Given the description of an element on the screen output the (x, y) to click on. 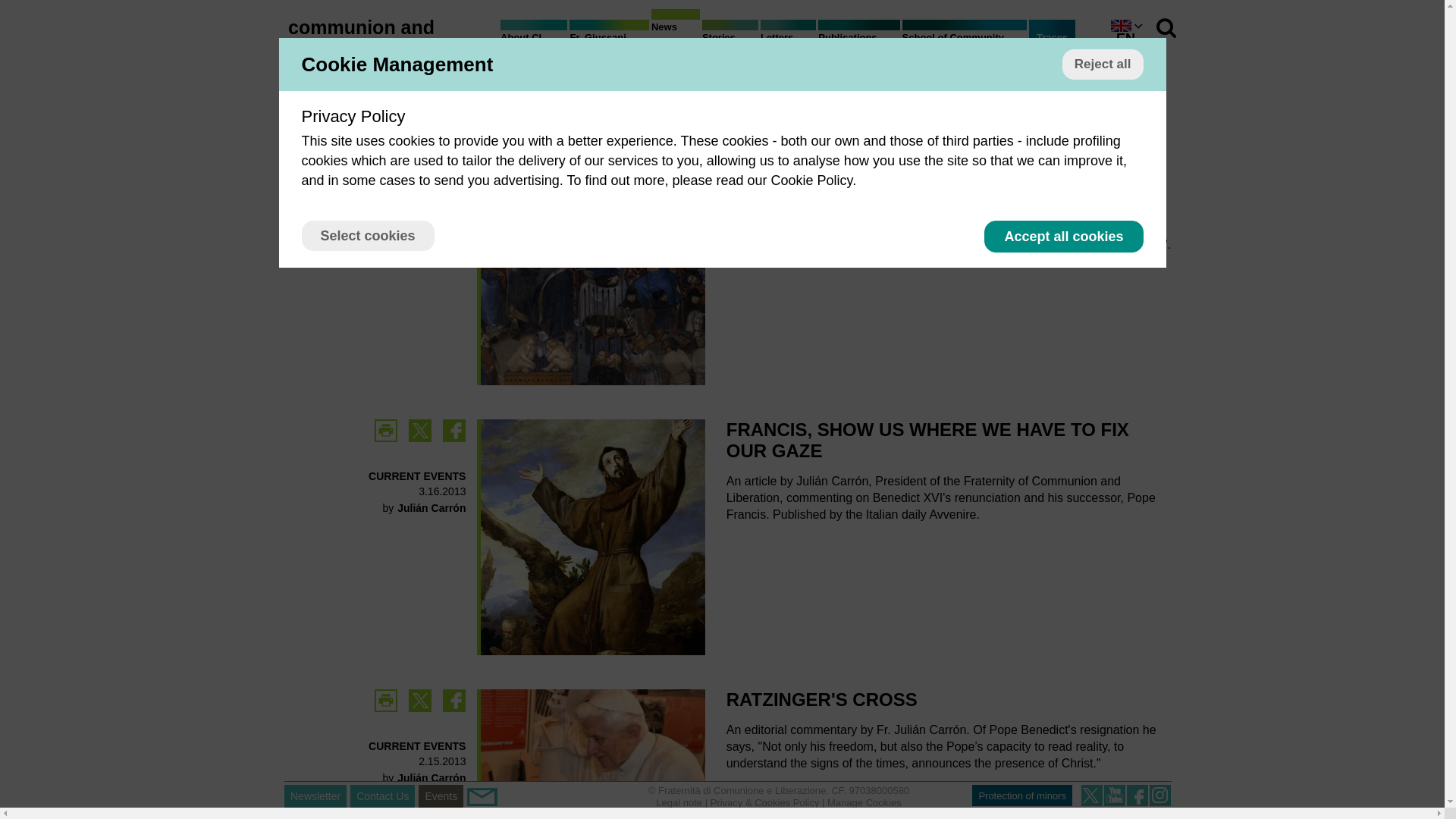
communion and liberation (360, 37)
School of Community (964, 40)
Stories (729, 40)
Publications (858, 40)
About CL (533, 40)
Fr. Giussani (608, 40)
Letters (787, 40)
Traces (1052, 37)
News (675, 29)
